Given the description of an element on the screen output the (x, y) to click on. 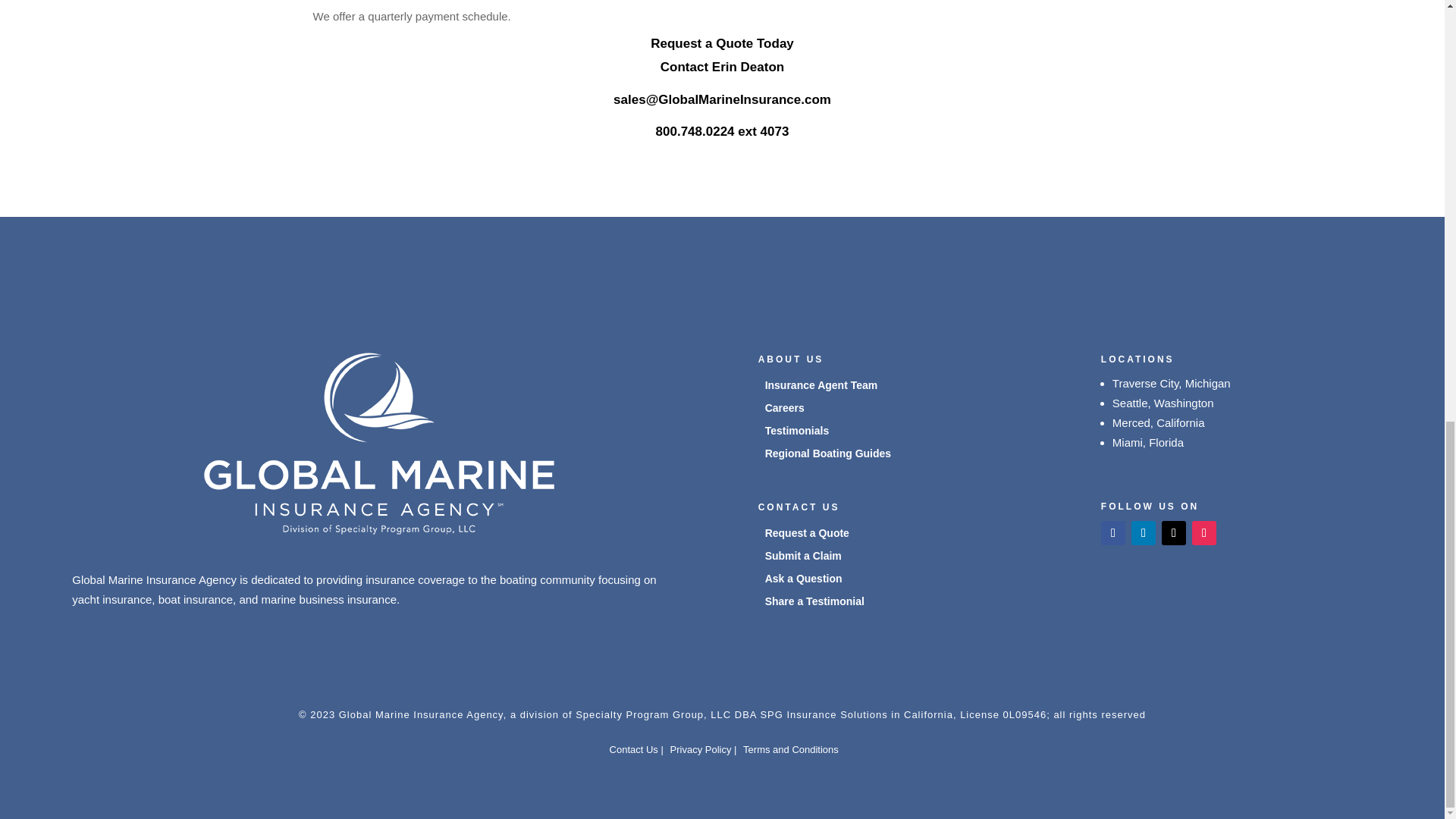
Request a Quote (806, 535)
Follow on Facebook (1112, 532)
Careers (785, 410)
Testimonials (797, 433)
Insurance Agent Team (821, 388)
Follow on LinkedIn (1143, 532)
Follow on Instagram (1203, 532)
Follow on X (1173, 532)
Regional Boating Guides (828, 456)
newlogo-white (378, 443)
